Given the description of an element on the screen output the (x, y) to click on. 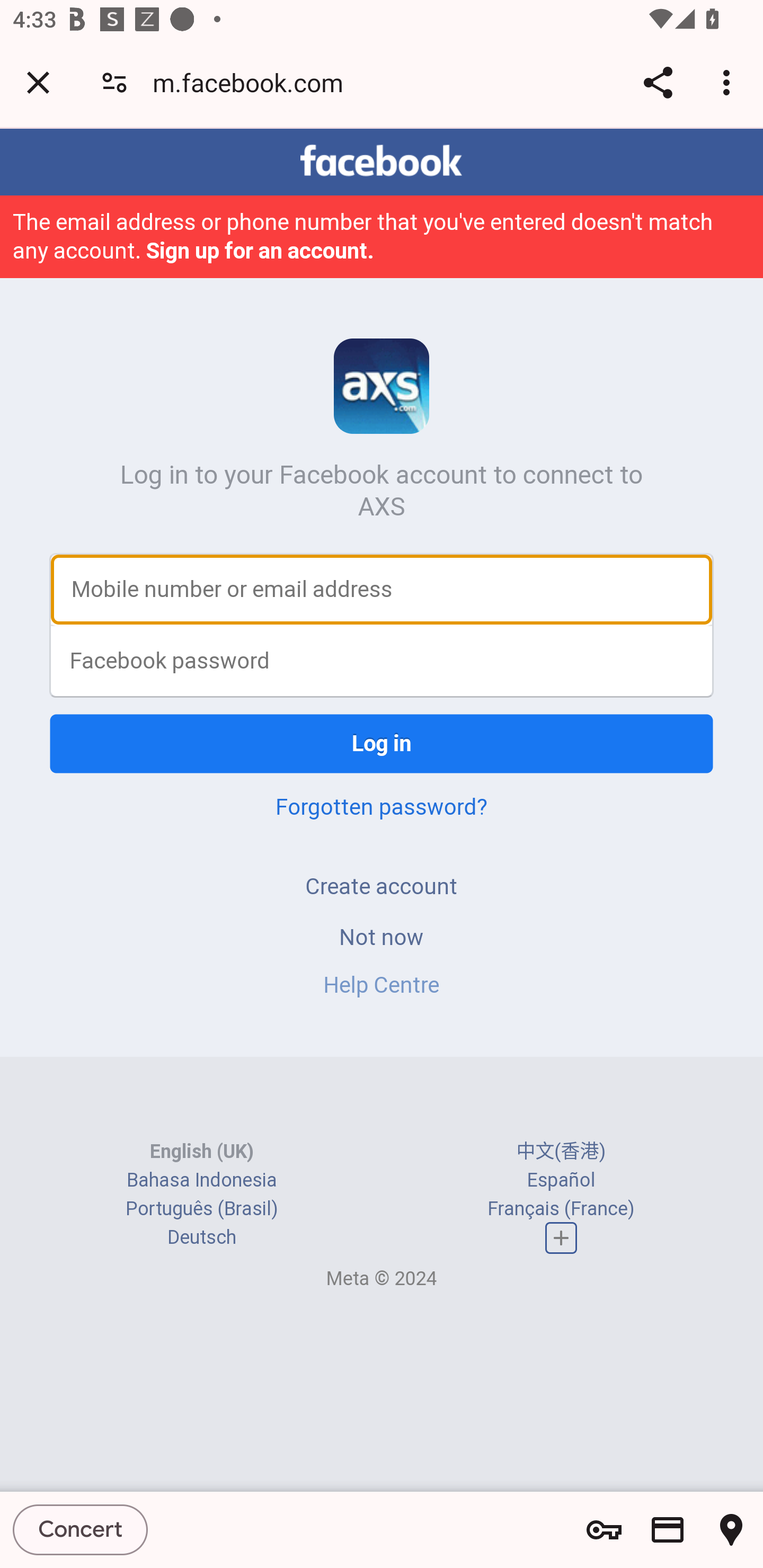
Close tab (38, 82)
Share (657, 82)
Customize and control Google Chrome (729, 82)
Connection is secure (114, 81)
m.facebook.com (254, 81)
facebook (381, 160)
Sign up for an account. (260, 249)
Log in (381, 744)
Forgotten password? (381, 806)
Create account (381, 885)
Not now (381, 936)
Help Centre (381, 983)
中文(香港) (561, 1151)
Bahasa Indonesia (201, 1179)
Español (560, 1179)
Português (Brasil) (201, 1207)
Français (France) (560, 1207)
Complete list of languages (560, 1237)
Deutsch (201, 1236)
Concert (80, 1529)
Show saved passwords and password options (603, 1530)
Show saved payment methods (667, 1530)
Show saved addresses (731, 1530)
